Given the description of an element on the screen output the (x, y) to click on. 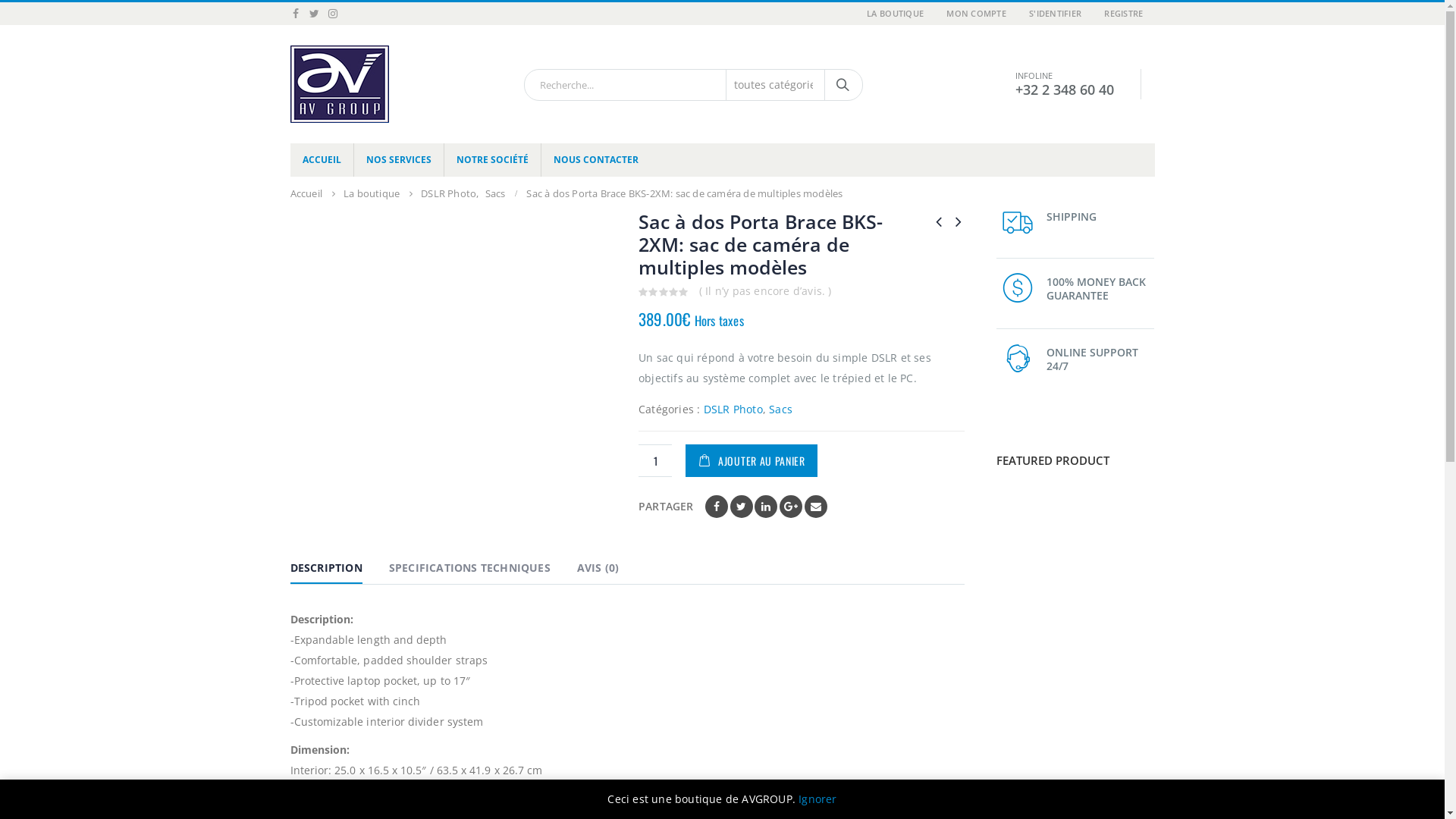
Gazouillement Element type: text (740, 506)
Email Element type: text (815, 506)
0 Element type: hover (663, 292)
LinkedIn Element type: text (765, 506)
REGISTRE Element type: text (1123, 13)
Gazouillement Element type: hover (313, 13)
Facebook Element type: hover (295, 13)
Instagram Element type: hover (332, 13)
ACCUEIL Element type: text (321, 159)
S'IDENTIFIER Element type: text (1054, 13)
NOUS CONTACTER Element type: text (595, 159)
La boutique Element type: text (371, 193)
NOS SERVICES Element type: text (398, 159)
Accueil Element type: text (305, 193)
Sacs Element type: text (780, 409)
AJOUTER AU PANIER Element type: text (751, 460)
Sacs Element type: text (495, 193)
LA BOUTIQUE Element type: text (895, 13)
Ignorer Element type: text (817, 798)
MON COMPTE Element type: text (976, 13)
DSLR Photo Element type: text (448, 193)
Facebook Element type: text (716, 506)
Google + Element type: text (790, 506)
AV Group - Votre partenaire audiovisuel Element type: hover (338, 83)
DSLR Photo Element type: text (732, 409)
Chercher Element type: hover (842, 84)
